Given the description of an element on the screen output the (x, y) to click on. 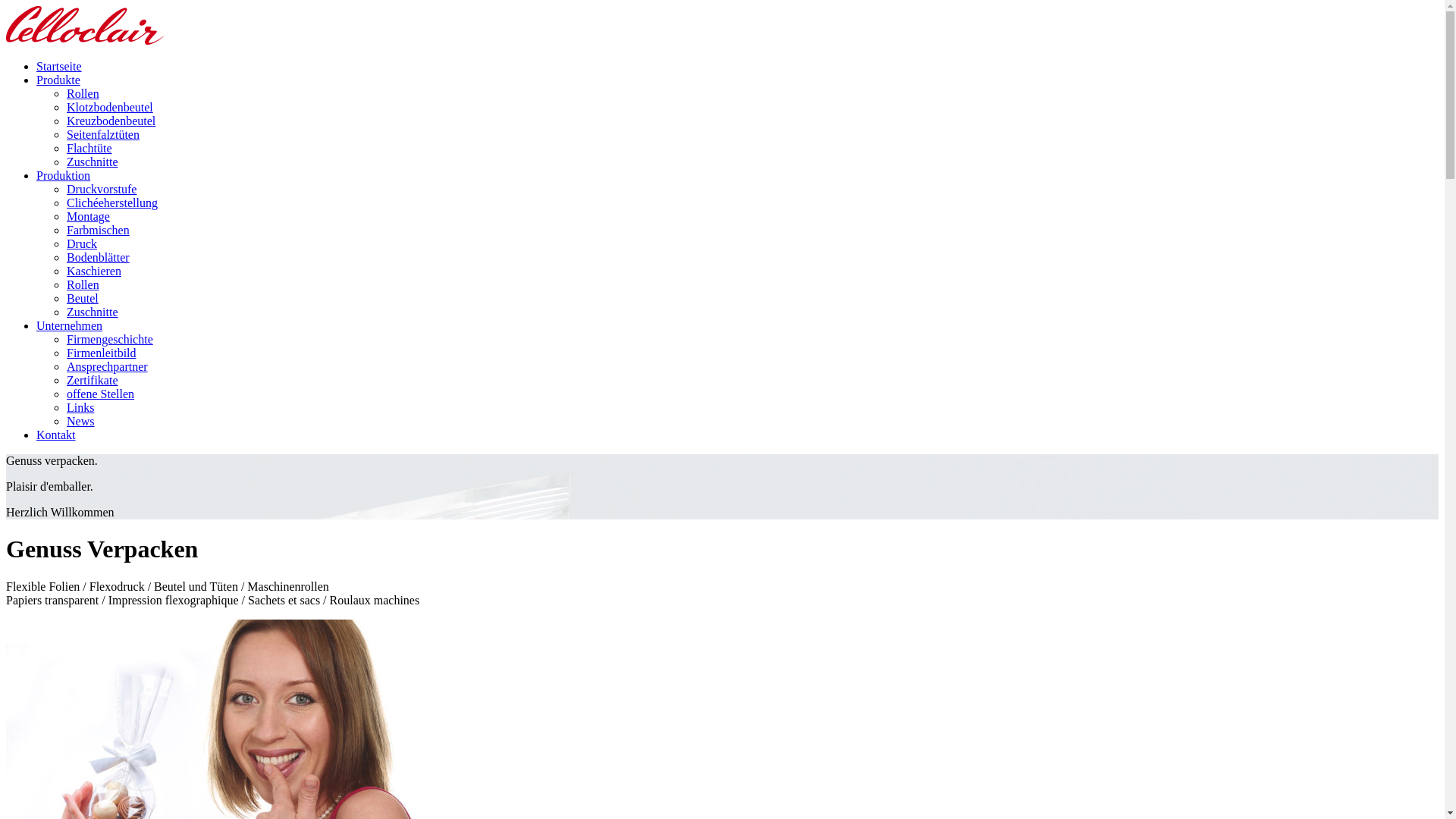
Druck Element type: text (81, 243)
Zertifikate Element type: text (92, 379)
Unternehmen Element type: text (69, 325)
Druckvorstufe Element type: text (101, 188)
Zuschnitte Element type: text (92, 311)
Kaschieren Element type: text (93, 270)
Kontakt Element type: text (55, 434)
Rollen Element type: text (82, 284)
offene Stellen Element type: text (100, 393)
Ansprechpartner Element type: text (106, 366)
Beutel Element type: text (82, 297)
Links Element type: text (80, 407)
Firmengeschichte Element type: text (109, 338)
Zuschnitte Element type: text (92, 161)
Produkte Element type: text (58, 79)
Farbmischen Element type: text (97, 229)
Firmenleitbild Element type: text (101, 352)
Montage Element type: text (87, 216)
Startseite Element type: text (58, 65)
Rollen Element type: text (82, 93)
Kreuzbodenbeutel Element type: text (110, 120)
Produktion Element type: text (63, 175)
Klotzbodenbeutel Element type: text (109, 106)
News Element type: text (80, 420)
